Given the description of an element on the screen output the (x, y) to click on. 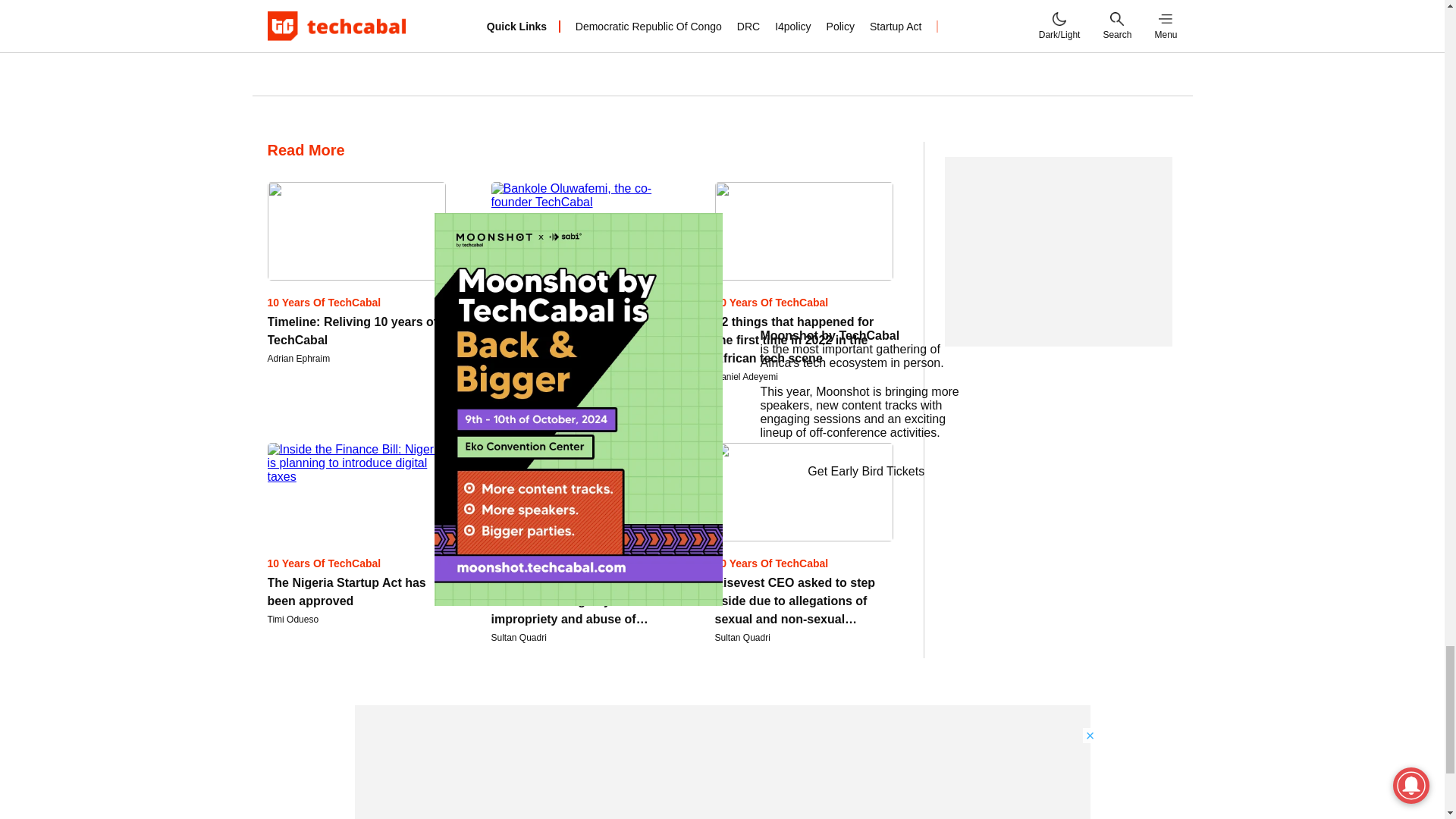
Posts by Timi Odueso (292, 619)
Posts by Adrian Ephraim (523, 376)
Posts by Adrian Ephraim (298, 357)
Posts by Sultan Quadri (742, 637)
Posts by Daniel Adeyemi (745, 376)
Posts by Sultan Quadri (519, 637)
